Given the description of an element on the screen output the (x, y) to click on. 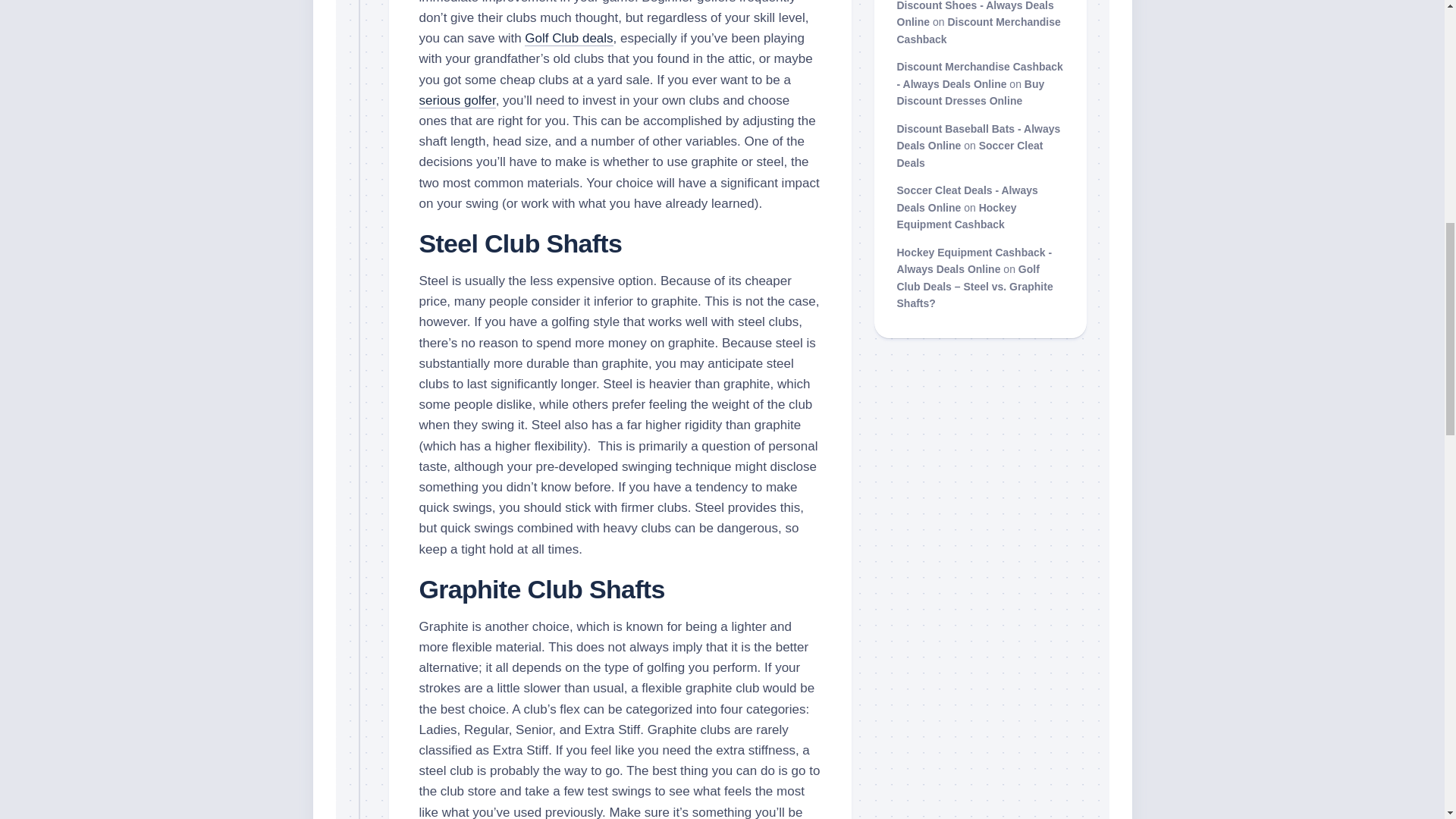
Discount Shoes - Always Deals Online (974, 14)
Discount Merchandise Cashback (977, 30)
serious golfer (457, 100)
Golf Club deals (568, 38)
